Given the description of an element on the screen output the (x, y) to click on. 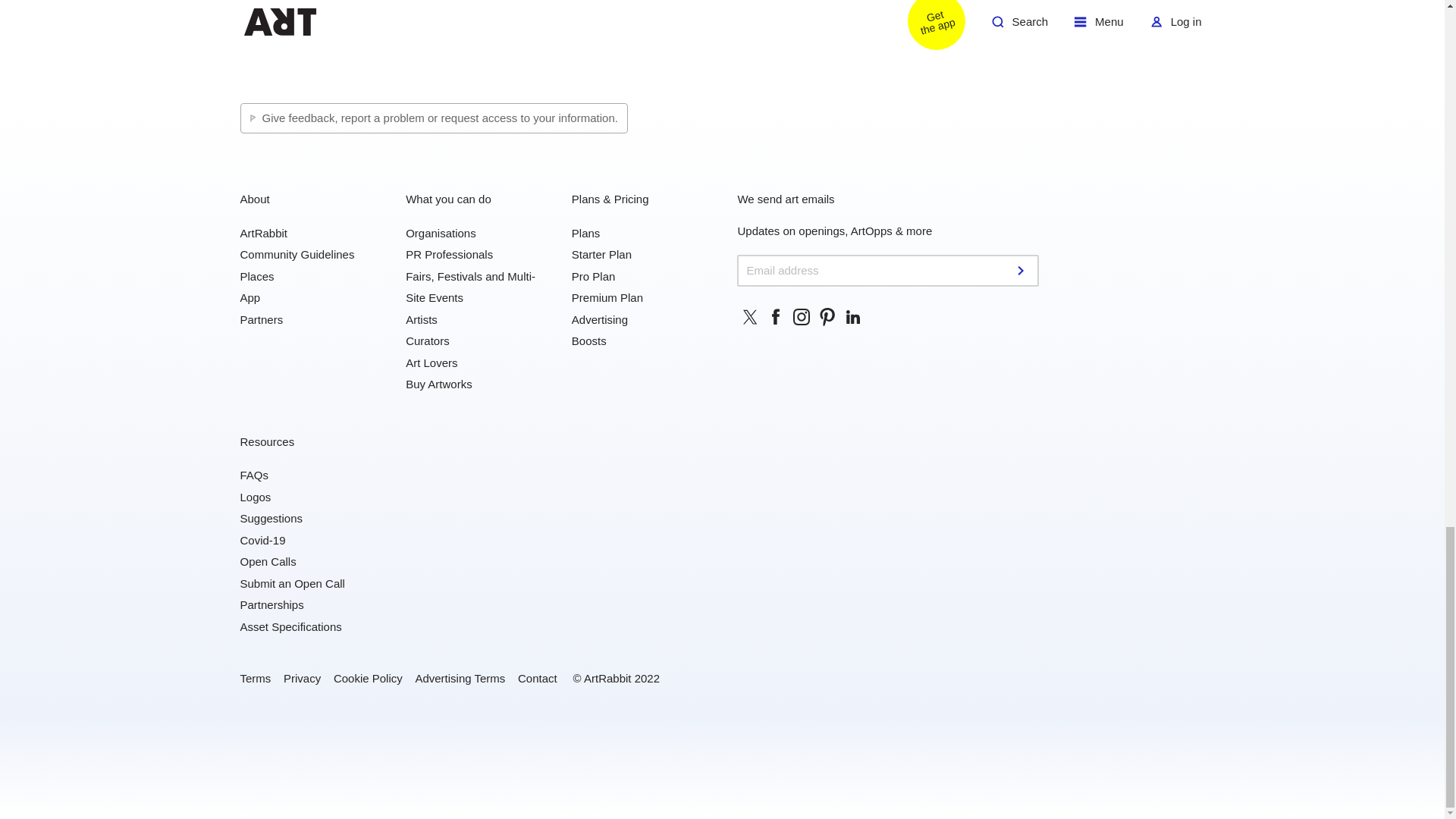
submit (1021, 270)
